Given the description of an element on the screen output the (x, y) to click on. 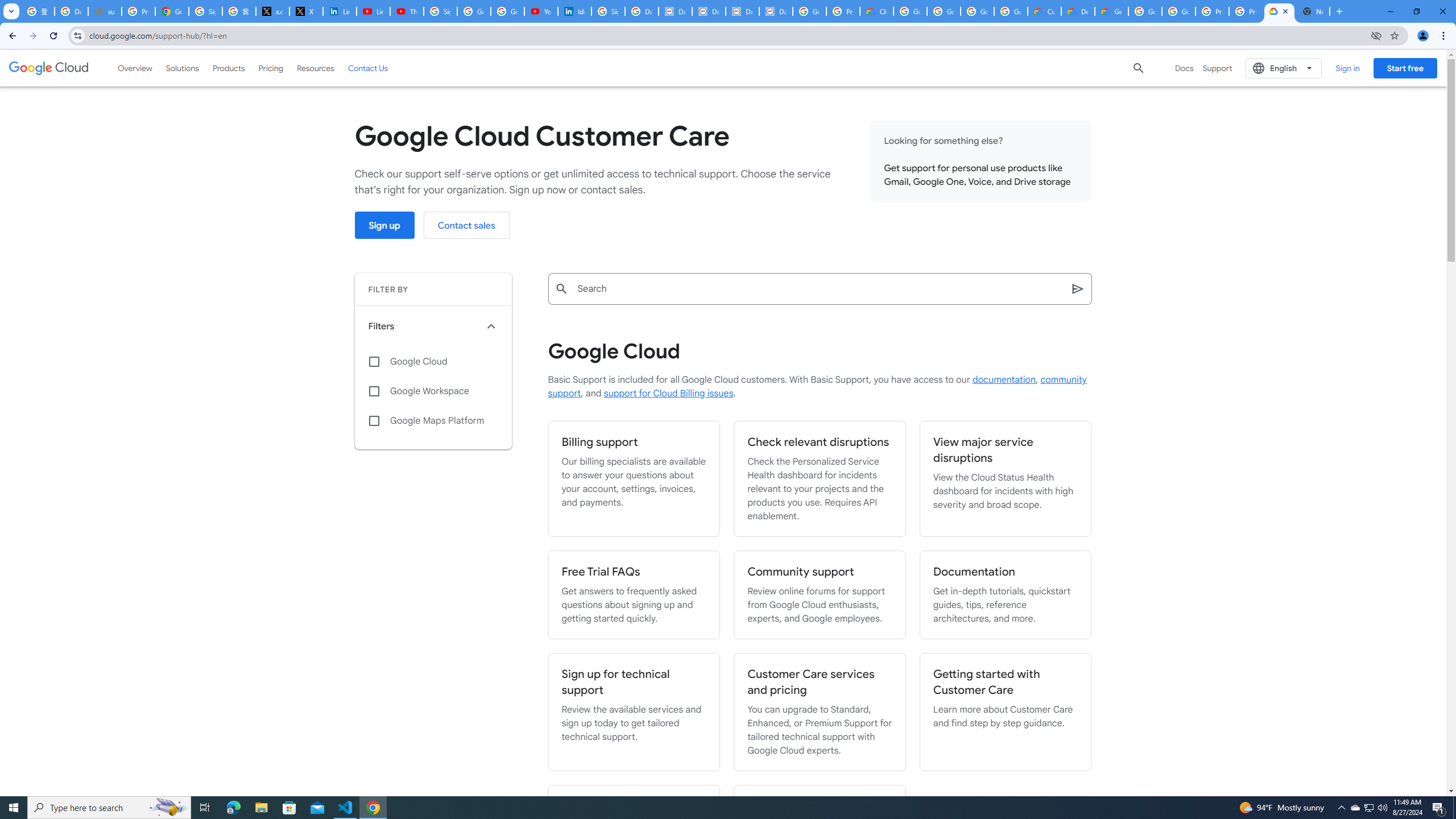
Start free (1405, 67)
Support (1216, 67)
Identity verification via Persona | LinkedIn Help (574, 11)
Support Hub | Google Cloud (1279, 11)
Resources (314, 67)
Data Privacy Framework (675, 11)
Overview (135, 67)
